Given the description of an element on the screen output the (x, y) to click on. 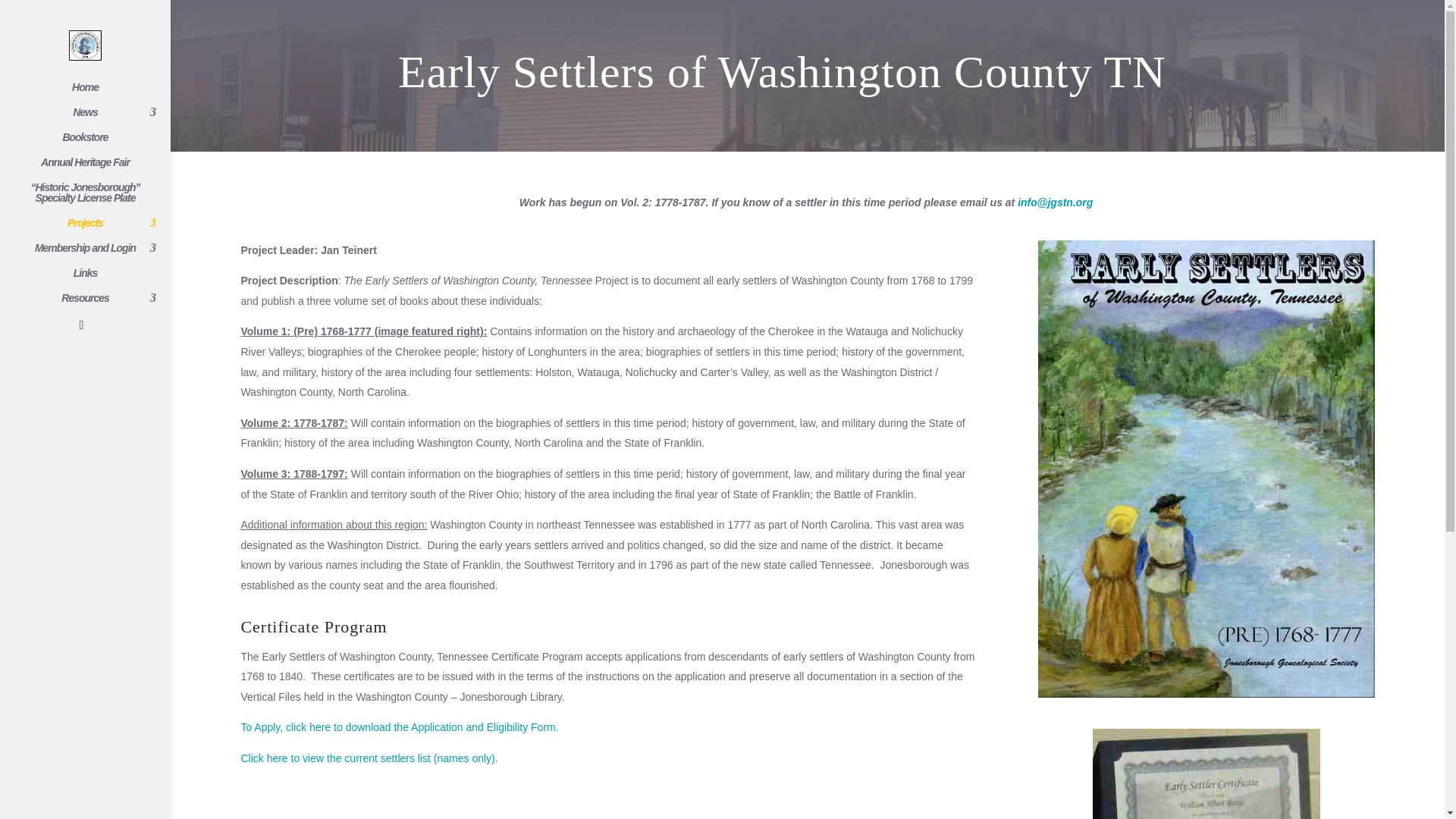
Annual Heritage Fair (100, 169)
Resources (100, 304)
Membership and Login (100, 254)
Home (100, 94)
Projects (100, 229)
News (100, 119)
Links (100, 279)
Bookstore (100, 144)
